Given the description of an element on the screen output the (x, y) to click on. 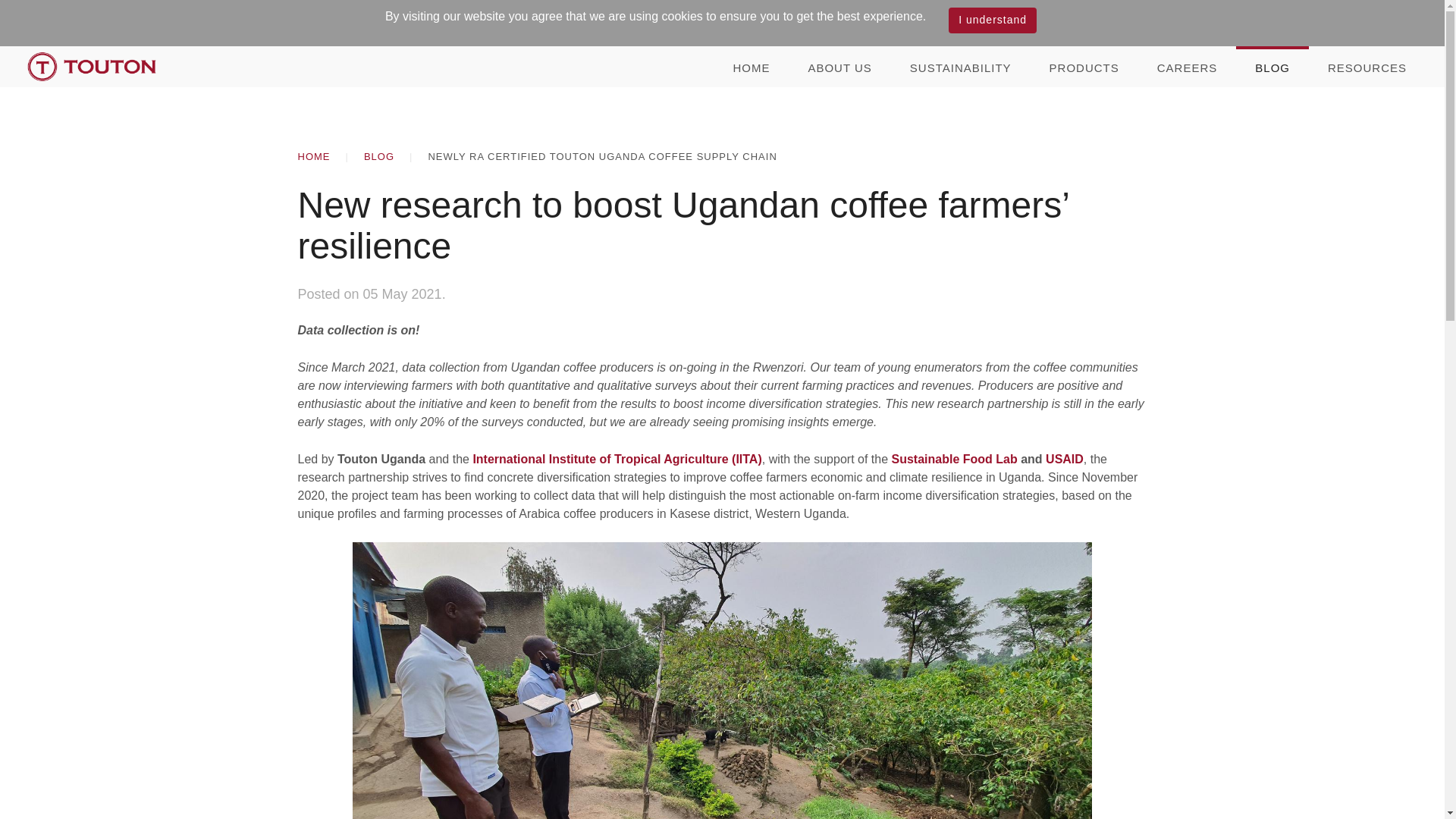
SUSTAINABILITY (960, 65)
PRODUCTS (1084, 65)
I understand (992, 20)
ABOUT US (839, 65)
HOME (313, 157)
Sustainable Food Lab (954, 459)
RESOURCES (1366, 65)
BLOG (379, 157)
HOME (751, 65)
BLOG (1272, 65)
CAREERS (1187, 65)
USAID (1064, 459)
